Given the description of an element on the screen output the (x, y) to click on. 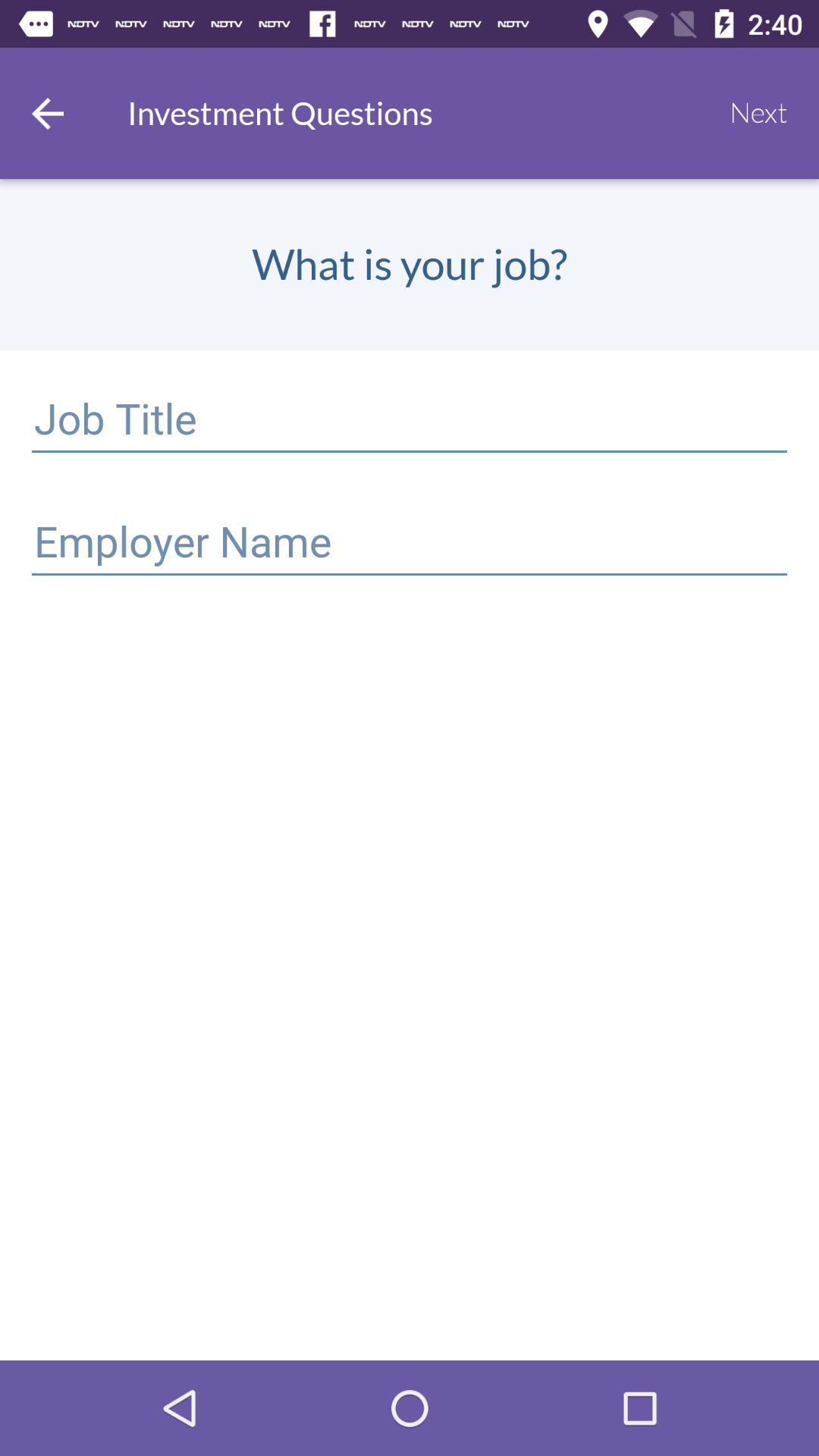
open the item to the right of the investment questions icon (758, 113)
